Given the description of an element on the screen output the (x, y) to click on. 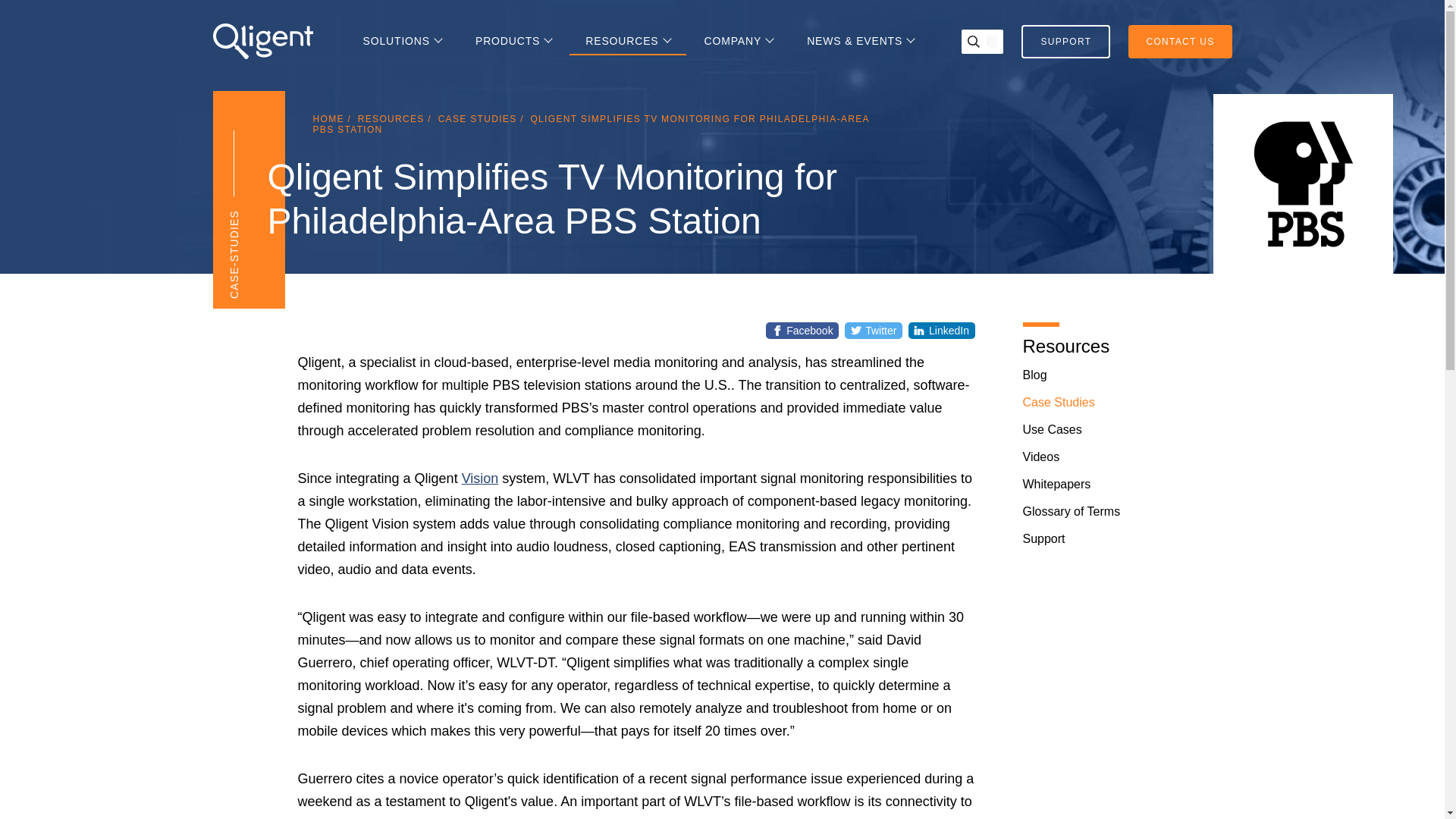
COMPANY (738, 41)
RESOURCES (628, 41)
SOLUTIONS (402, 41)
PRODUCTS (512, 41)
